Given the description of an element on the screen output the (x, y) to click on. 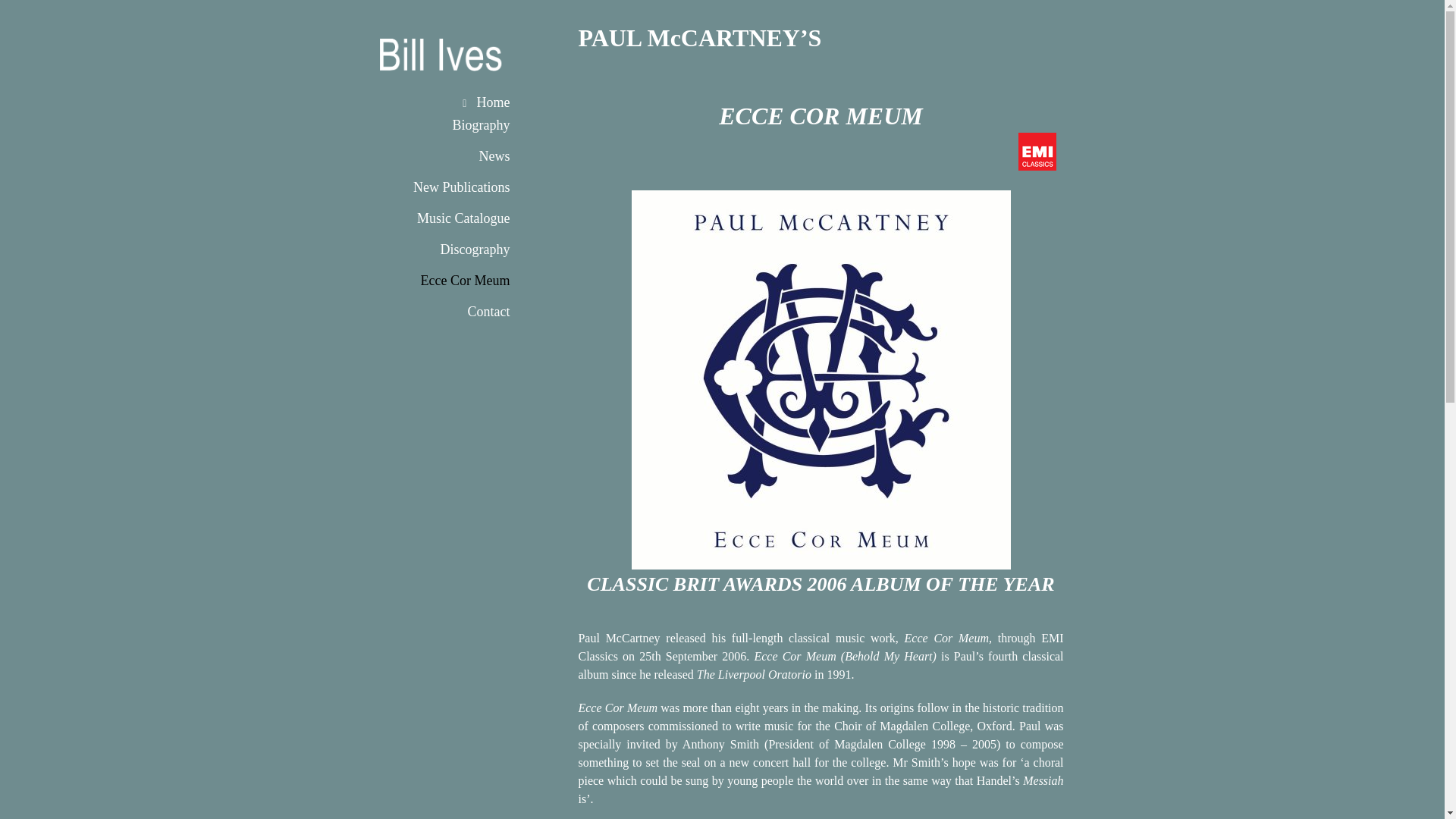
New Publications (456, 187)
Ecce Cor Meum (456, 280)
Contact (456, 311)
Biography (456, 124)
News (456, 155)
Discography (456, 249)
Home (456, 94)
Music Catalogue (456, 218)
